Given the description of an element on the screen output the (x, y) to click on. 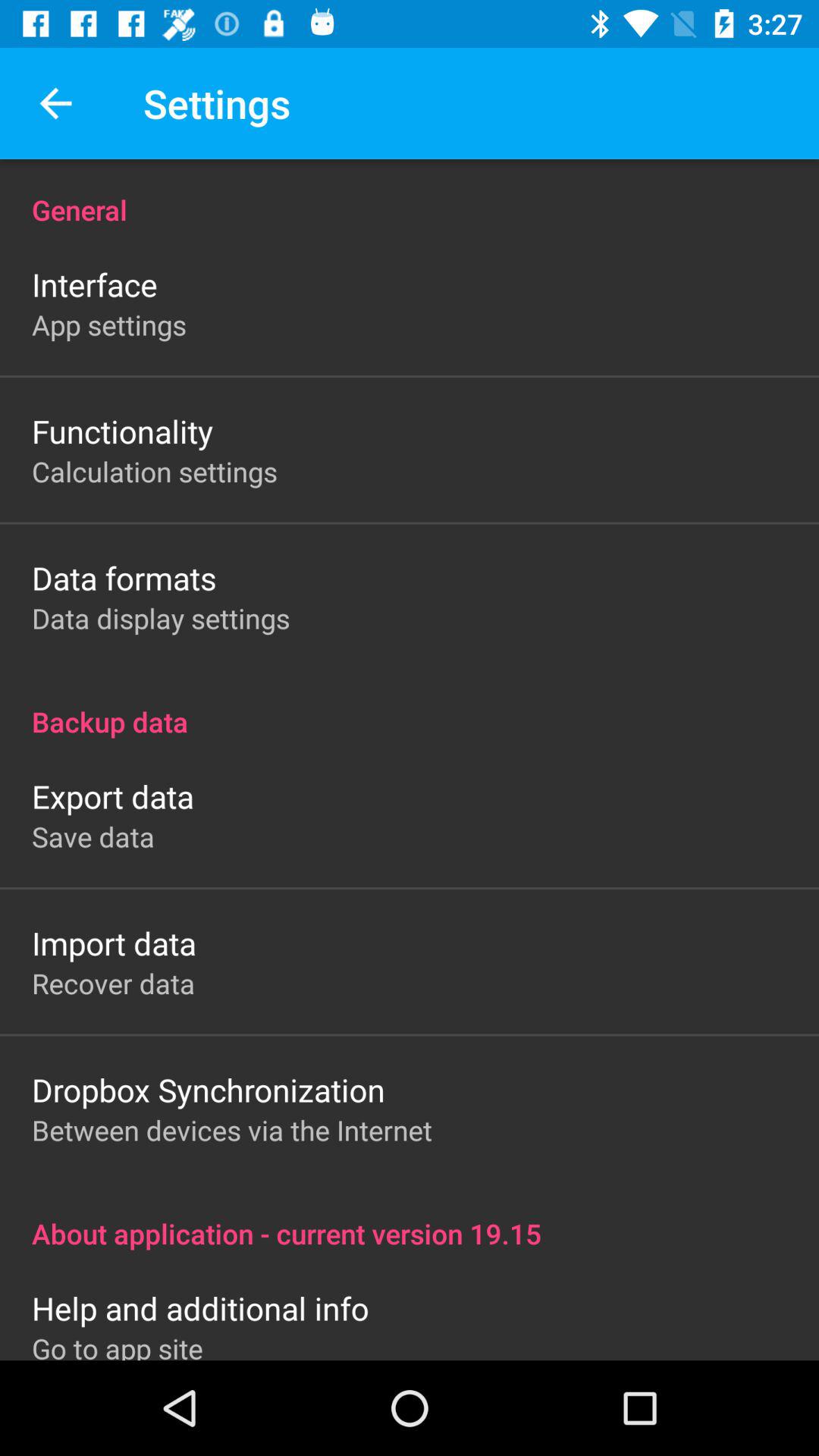
jump to data formats item (123, 577)
